Given the description of an element on the screen output the (x, y) to click on. 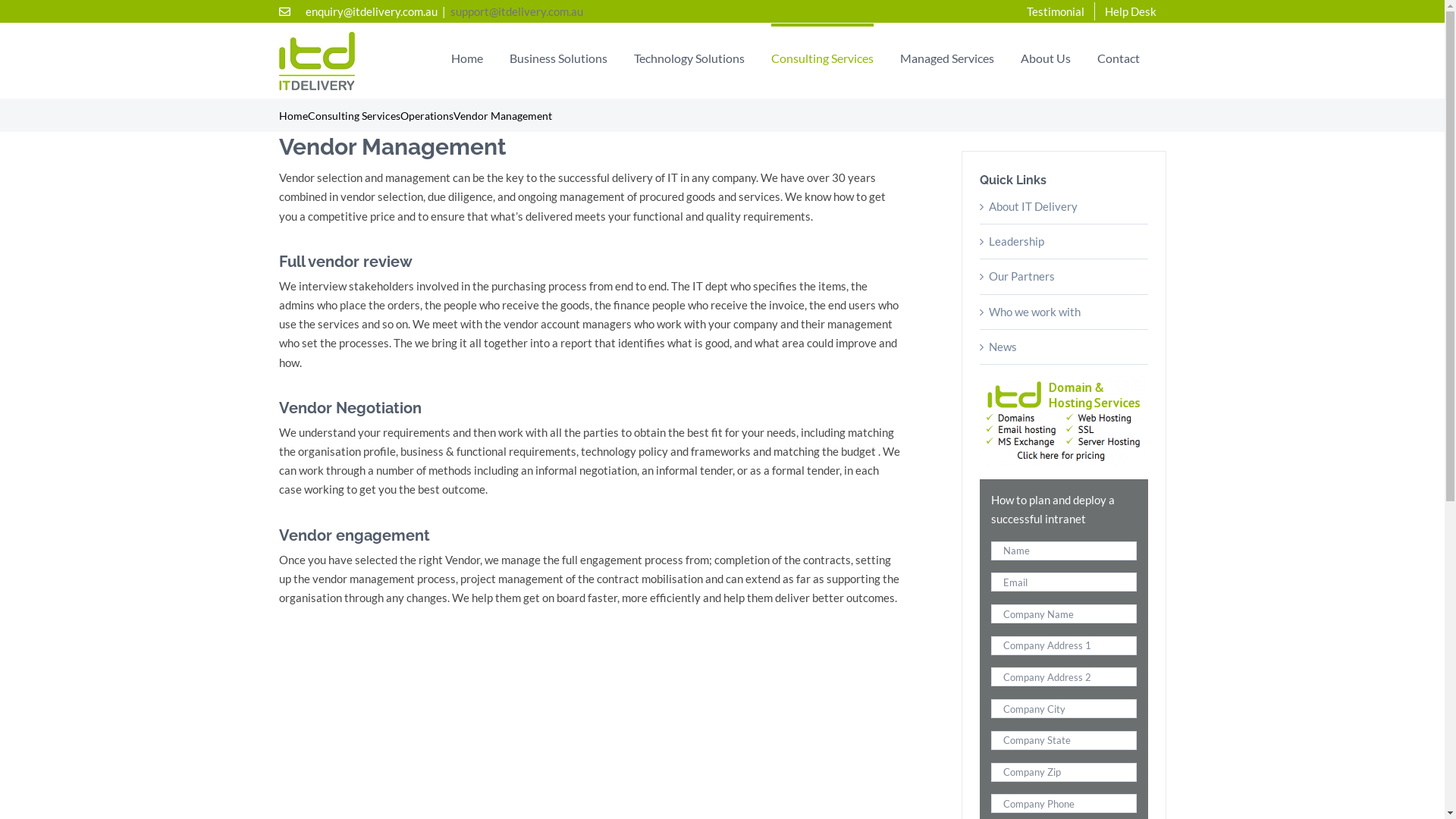
Home Element type: text (293, 115)
Consulting Services Element type: text (821, 56)
Managed Services Element type: text (946, 56)
Help Desk Element type: text (1130, 11)
About Us Element type: text (1045, 56)
Testimonial Element type: text (1054, 11)
support@itdelivery.com.au Element type: text (516, 11)
Technology Solutions Element type: text (688, 56)
Contact Element type: text (1117, 56)
About IT Delivery Element type: text (1032, 206)
Our Partners Element type: text (1021, 275)
Business Solutions Element type: text (558, 56)
Who we work with Element type: text (1034, 311)
Operations Element type: text (426, 115)
Home Element type: text (466, 56)
Leadership Element type: text (1016, 240)
News Element type: text (1002, 346)
Consulting Services Element type: text (353, 115)
